Given the description of an element on the screen output the (x, y) to click on. 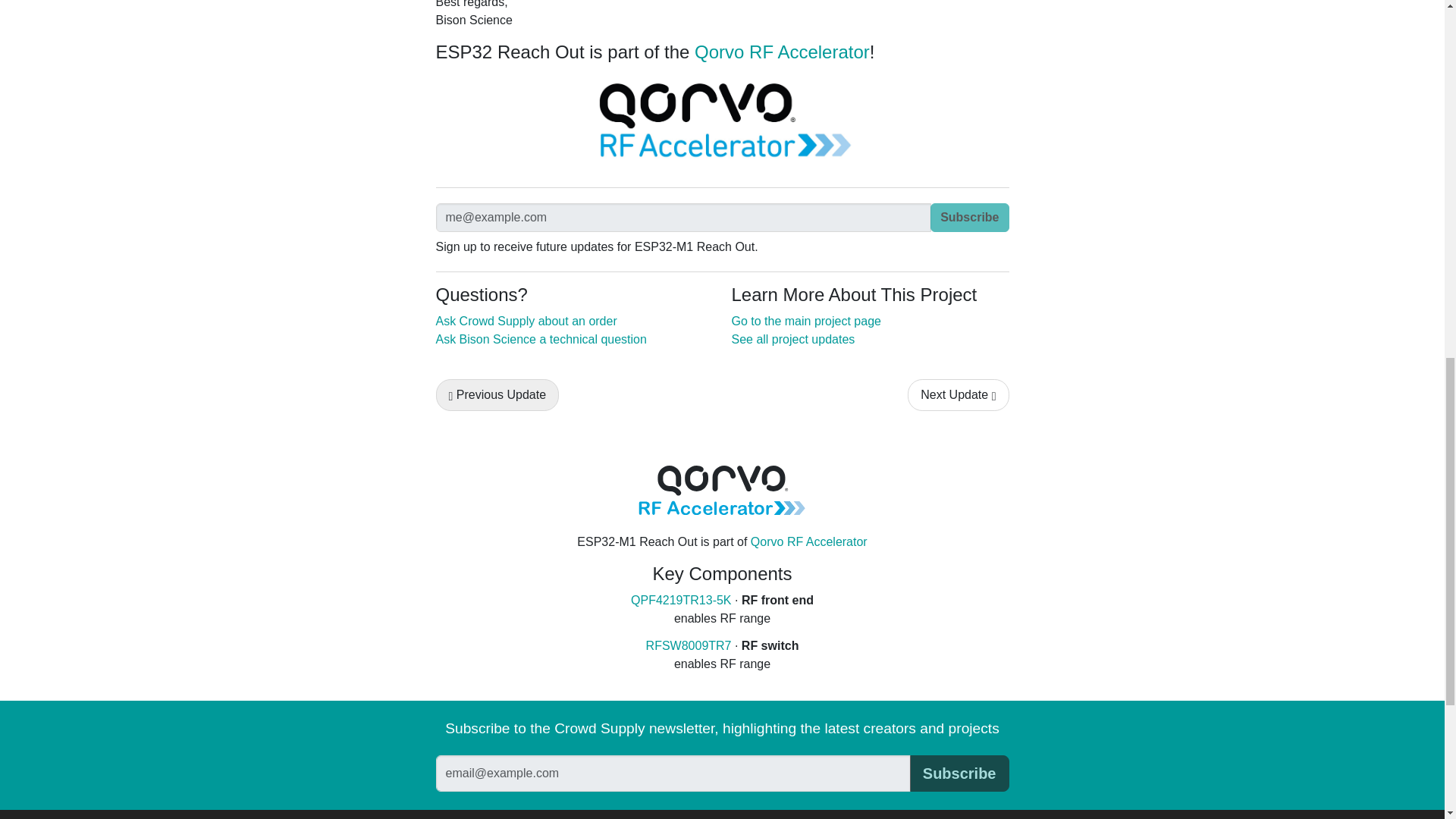
RFSW8009TR7 (689, 645)
Subscribe (969, 217)
Previous Update (497, 395)
Qorvo RF Acclerator (722, 122)
Ask Bison Science a technical question (540, 338)
See all project updates (792, 338)
Subscribe (959, 773)
Go to the main project page (805, 320)
QPF4219TR13-5K (681, 599)
Ask Crowd Supply about an order (525, 320)
